Given the description of an element on the screen output the (x, y) to click on. 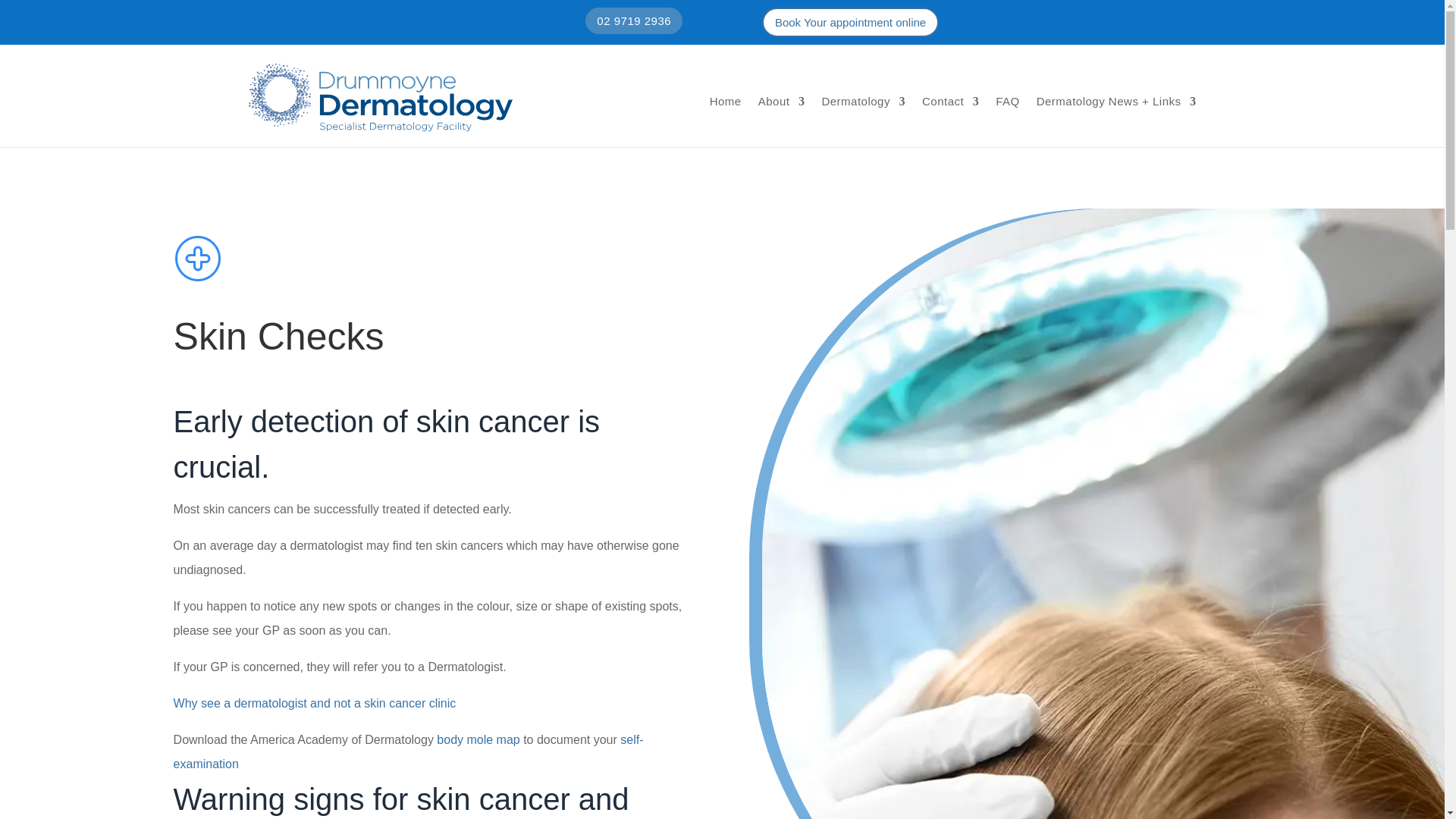
Book Your appointment online (850, 21)
Self Examination Checklist (408, 751)
02 9719 2936 (633, 20)
Why see a Dermatologist and Not a Skin Cancer Clinic? (315, 703)
Dermatology (863, 101)
Body Mole Map - Download (477, 739)
